Given the description of an element on the screen output the (x, y) to click on. 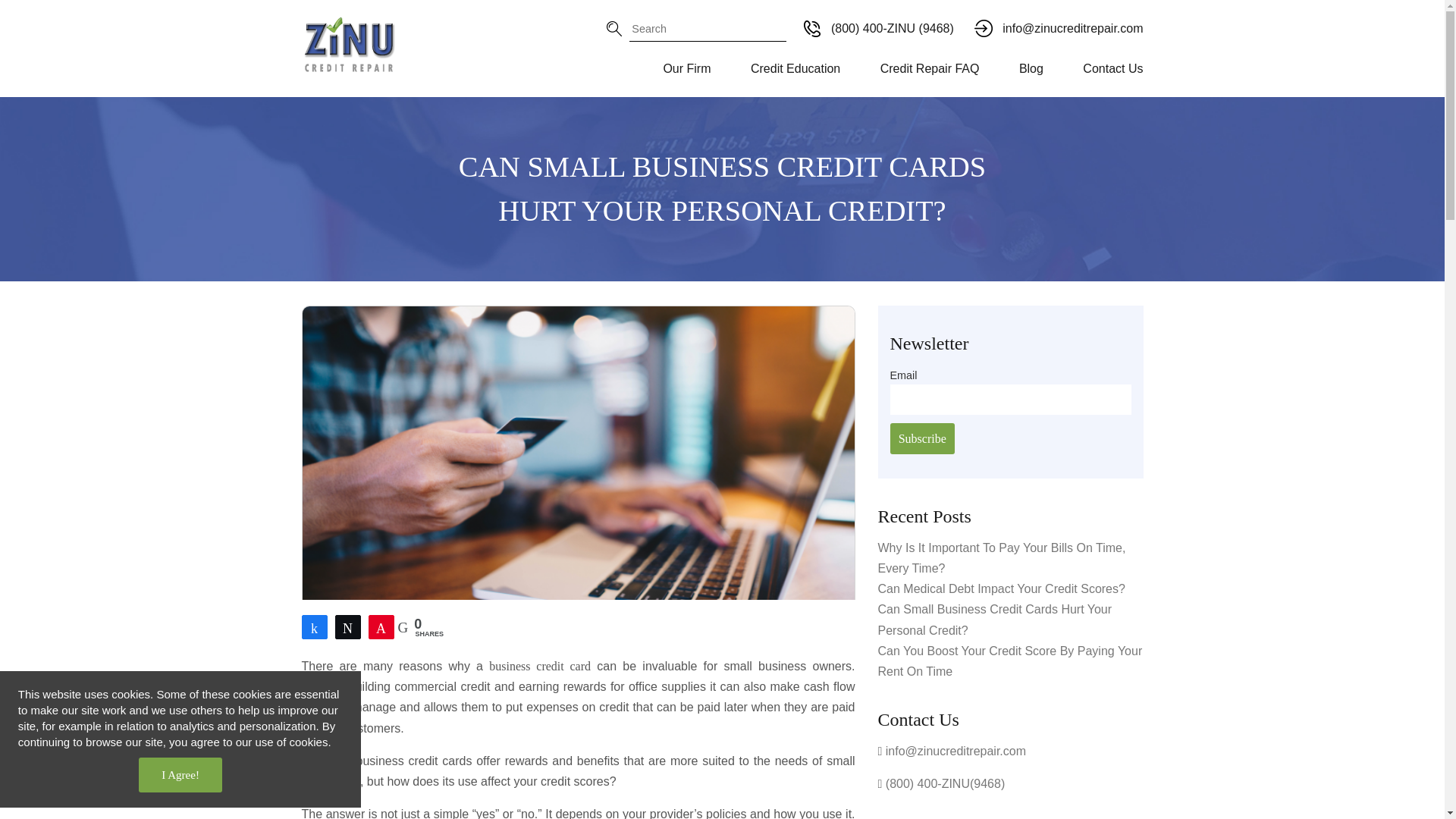
Contact Us (1103, 69)
Credit Repair FAQ (929, 69)
Can Medical Debt Impact Your Credit Scores? (1001, 588)
Subscribe (922, 438)
Blog (1031, 69)
Can Small Business Credit Cards Hurt Your Personal Credit? (994, 619)
Can You Boost Your Credit Score By Paying Your Rent On Time (1009, 661)
Subscribe (922, 438)
Why Is It Important To Pay Your Bills On Time, Every Time? (1001, 557)
Our Firm (687, 69)
submit (767, 18)
Credit Education (795, 69)
